Given the description of an element on the screen output the (x, y) to click on. 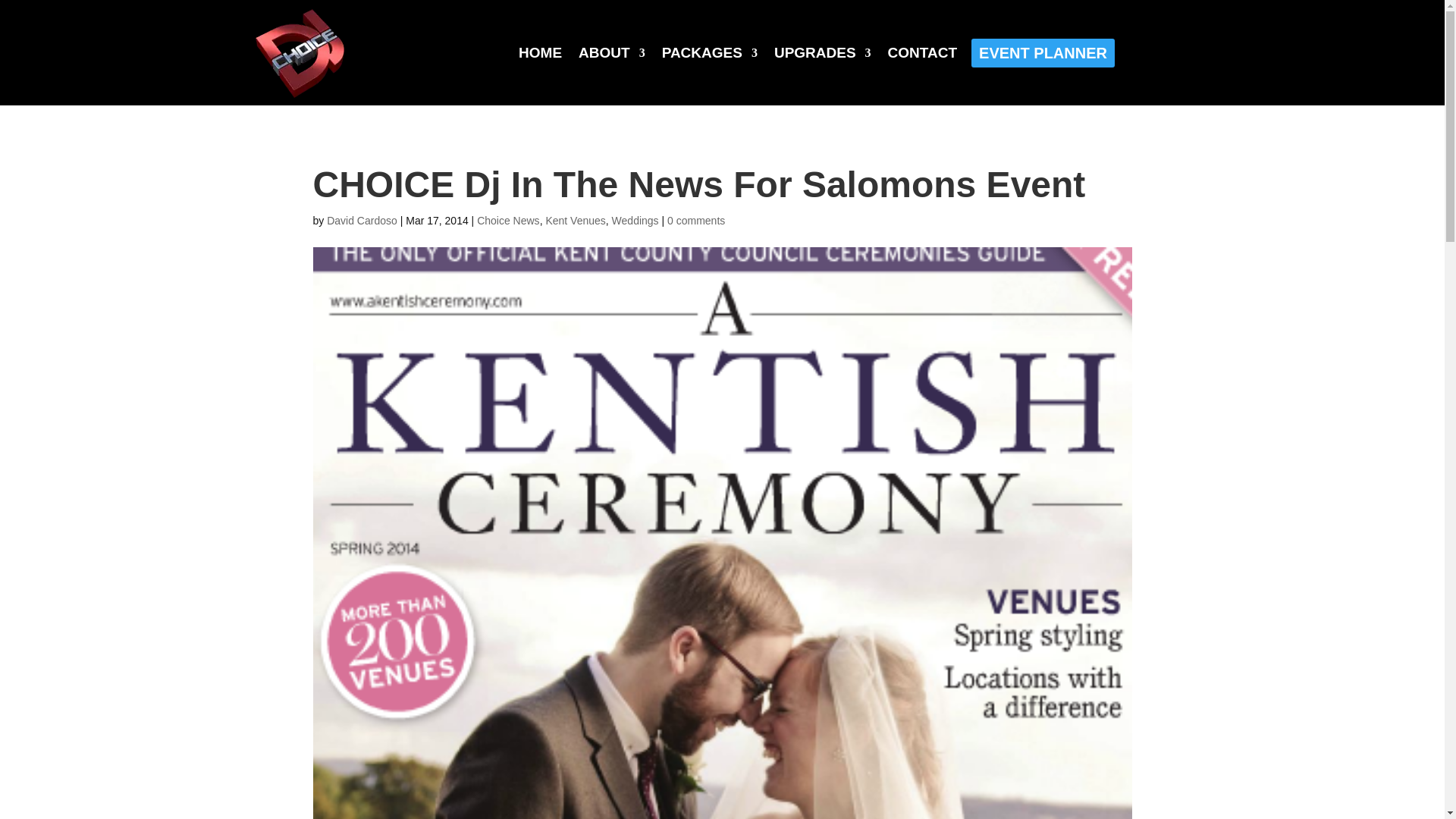
Posts by David Cardoso (361, 220)
UPGRADES (822, 52)
PACKAGES (709, 52)
